Given the description of an element on the screen output the (x, y) to click on. 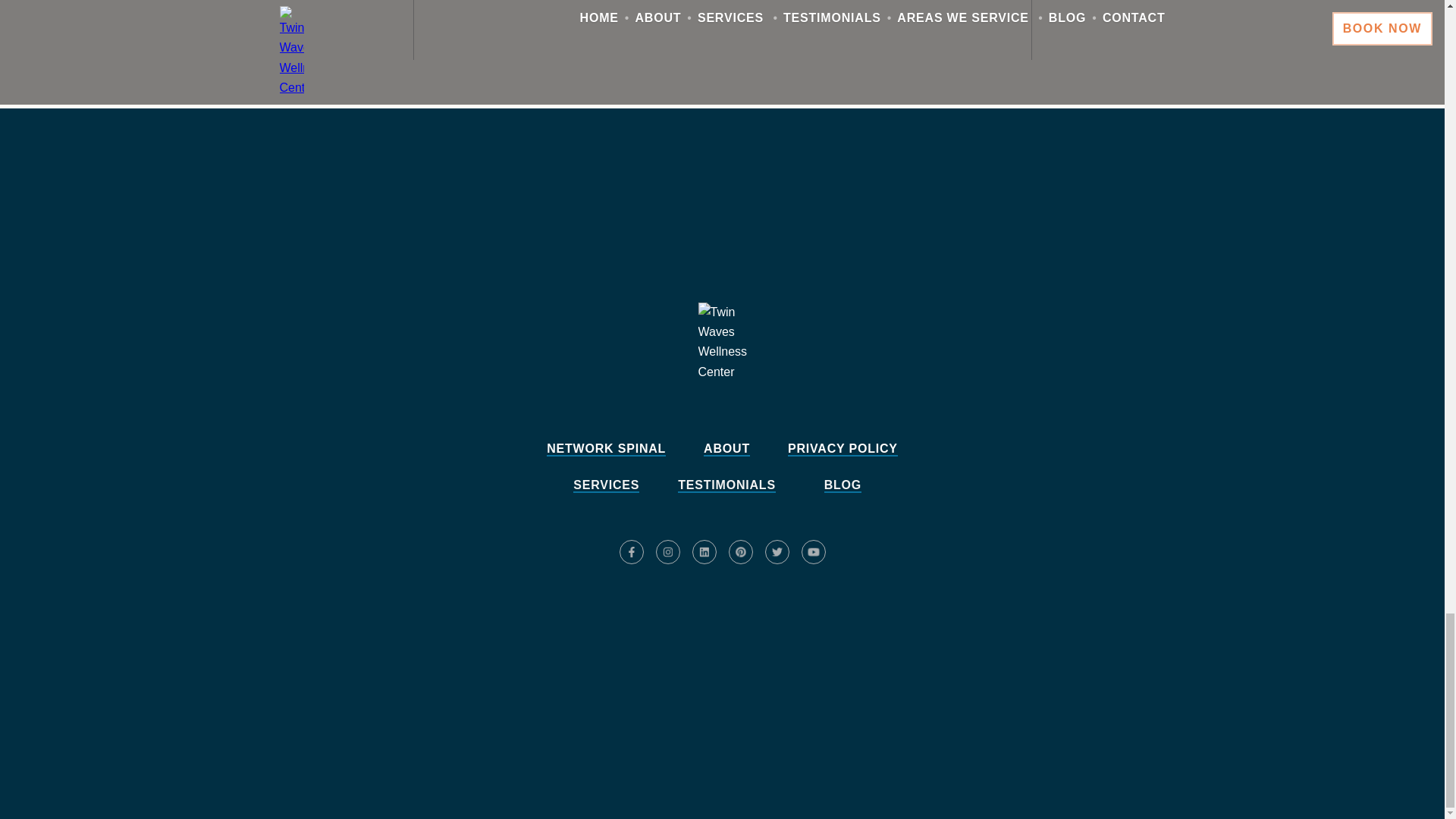
PRIVACY POLICY (842, 449)
BLOG (842, 485)
ABOUT (726, 449)
SERVICES (606, 485)
NETWORK SPINAL (606, 449)
Schedule an appointment (721, 606)
TESTIMONIALS (727, 485)
